Given the description of an element on the screen output the (x, y) to click on. 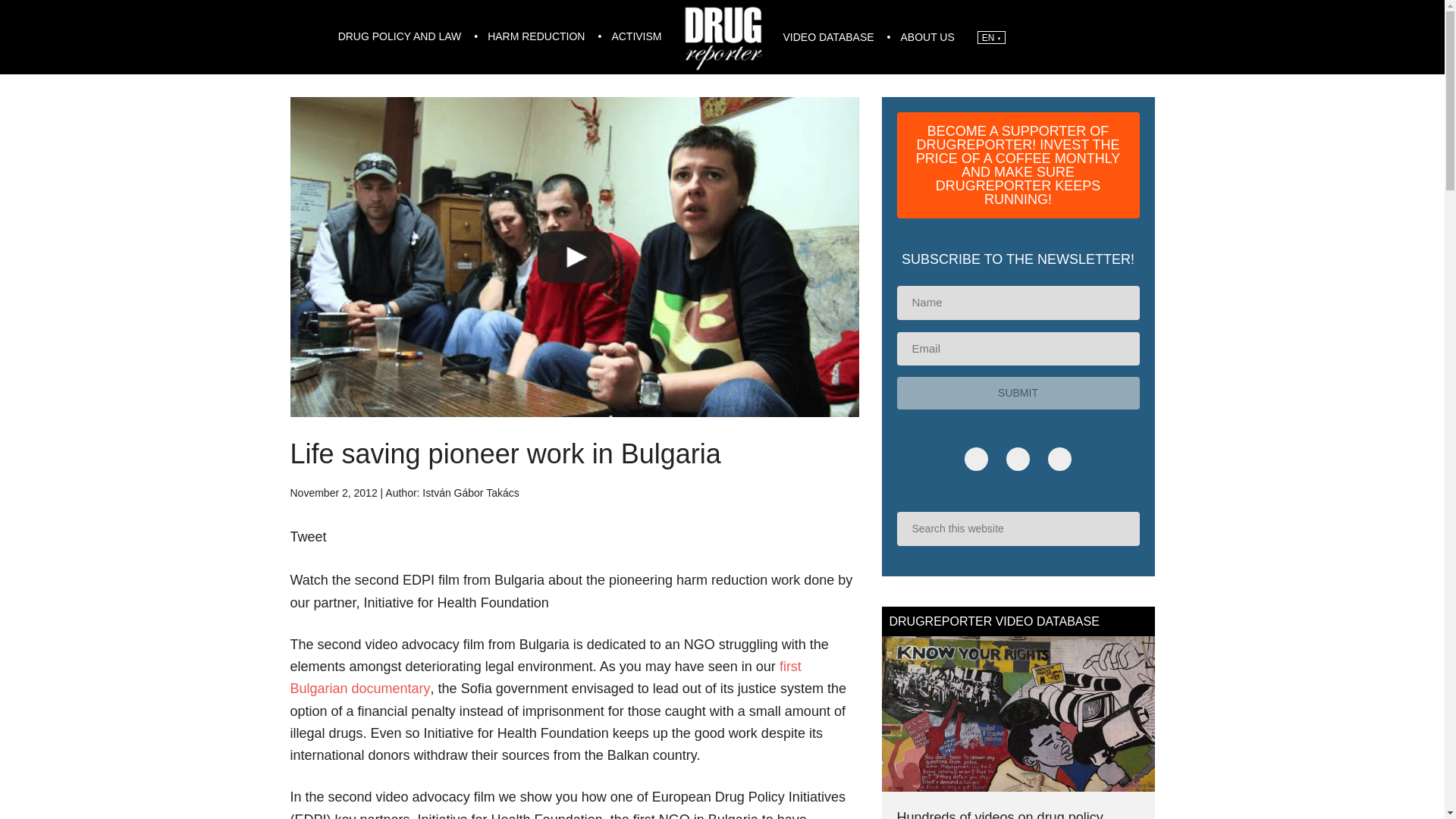
DRUG POLICY AND LAW (401, 36)
VIDEO DATABASE (830, 37)
ACTIVISM (635, 36)
ABOUT US (926, 37)
HARM REDUCTION (537, 36)
first Bulgarian documentary (544, 677)
Drugreporter (721, 36)
Submit (1017, 392)
